Given the description of an element on the screen output the (x, y) to click on. 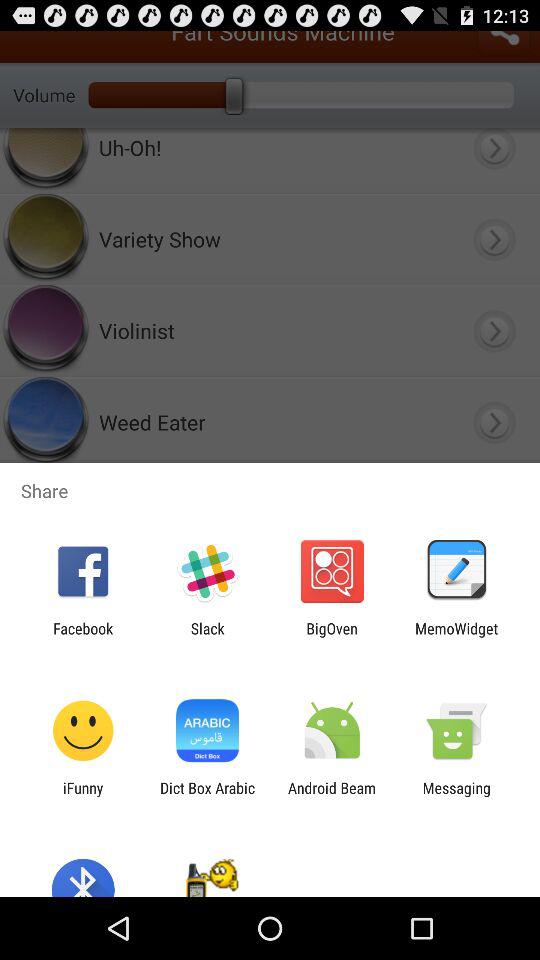
tap the item next to slack app (331, 637)
